Given the description of an element on the screen output the (x, y) to click on. 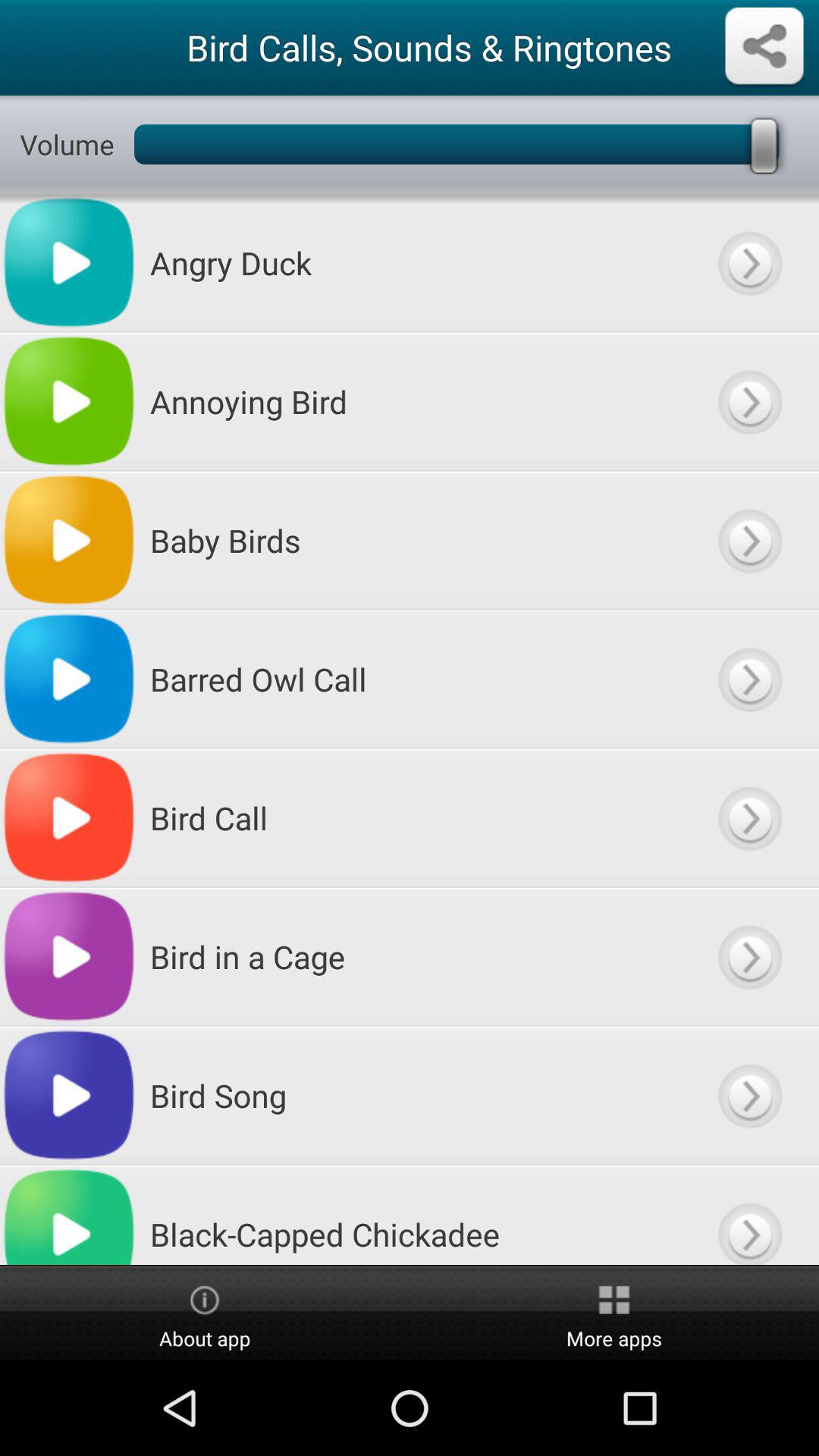
go next (749, 1095)
